Given the description of an element on the screen output the (x, y) to click on. 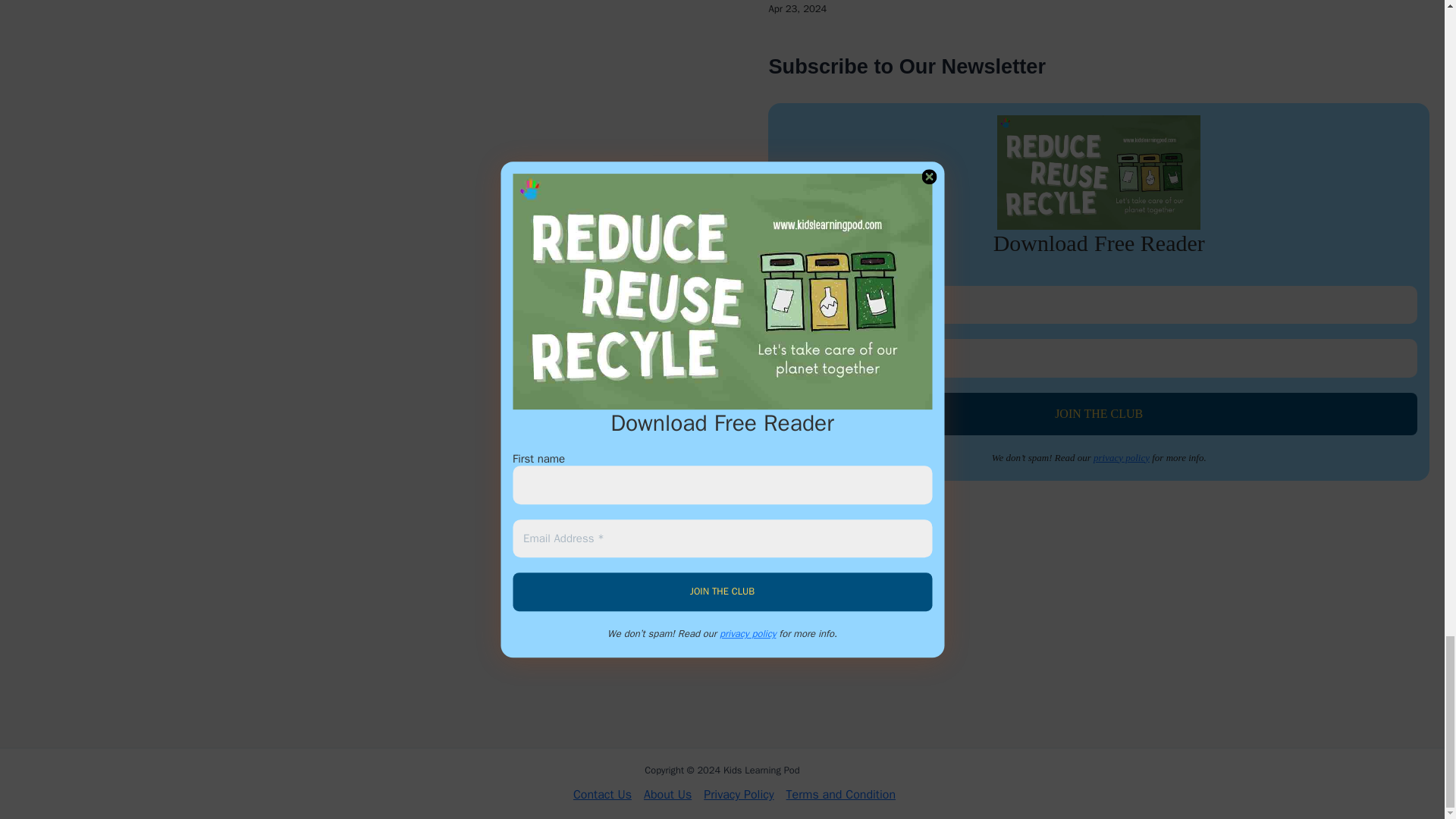
First name (1098, 304)
JOIN THE CLUB (1098, 413)
